Given the description of an element on the screen output the (x, y) to click on. 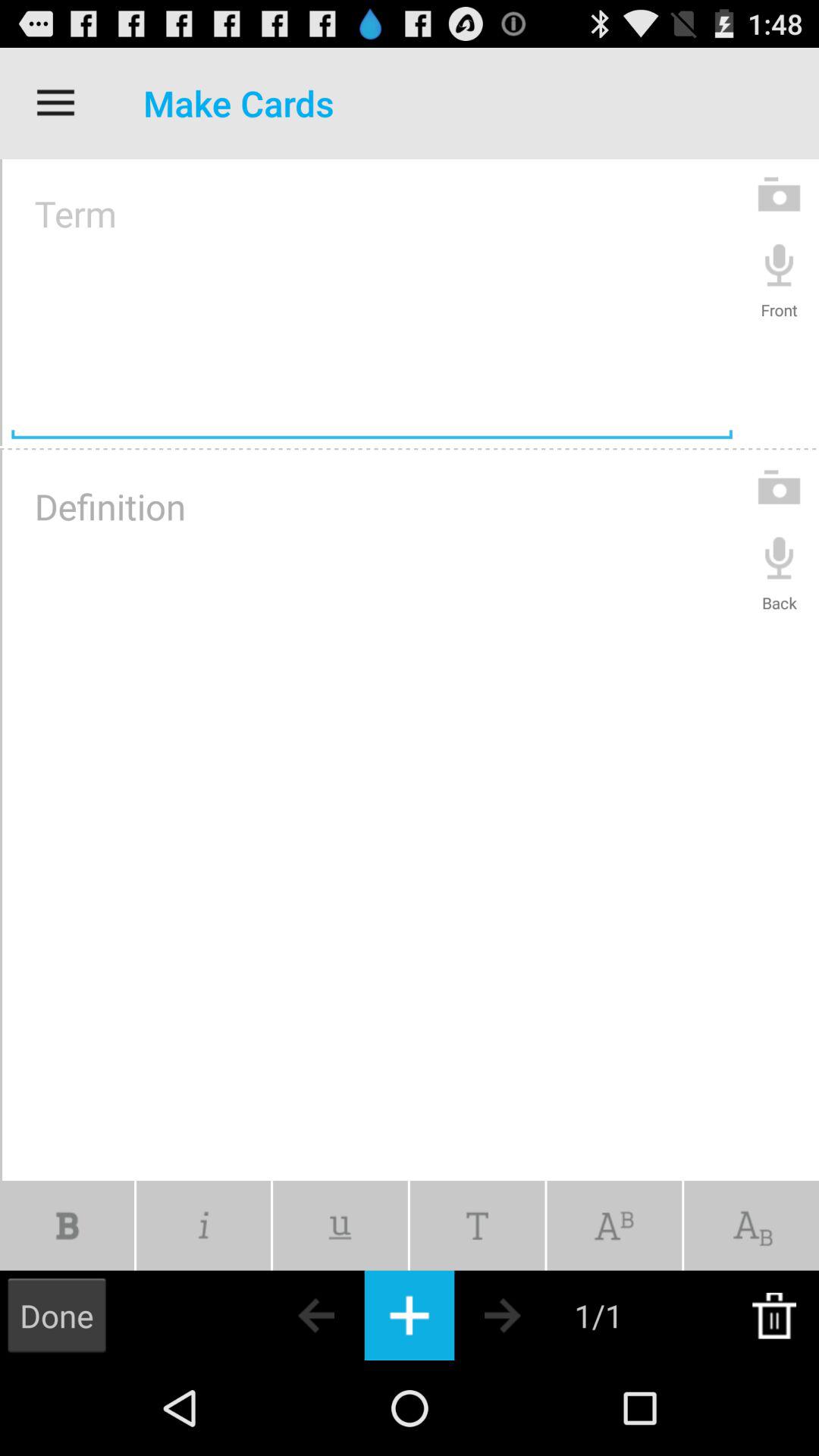
tap item above done icon (67, 1225)
